Given the description of an element on the screen output the (x, y) to click on. 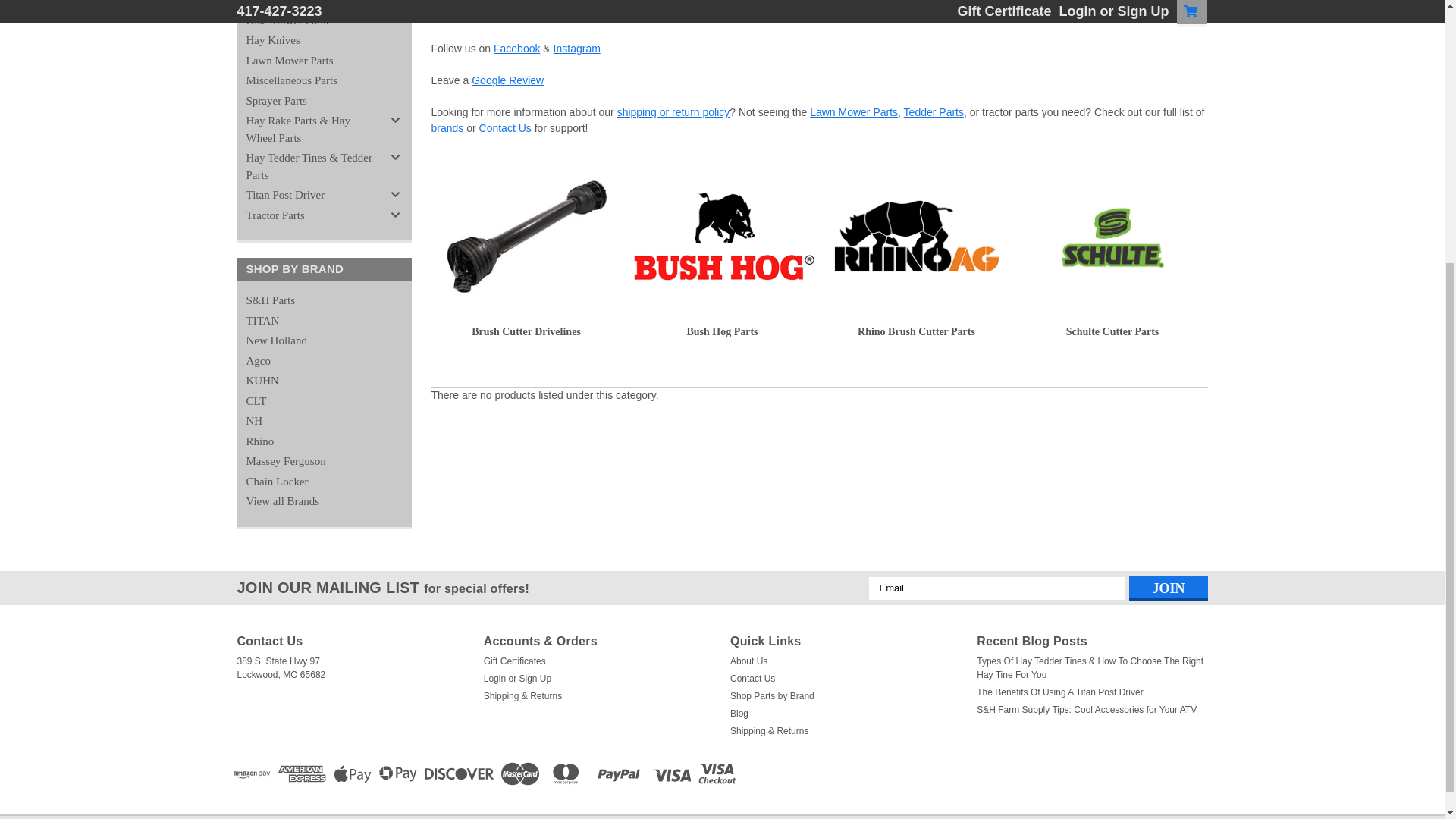
Join (1168, 587)
